Given the description of an element on the screen output the (x, y) to click on. 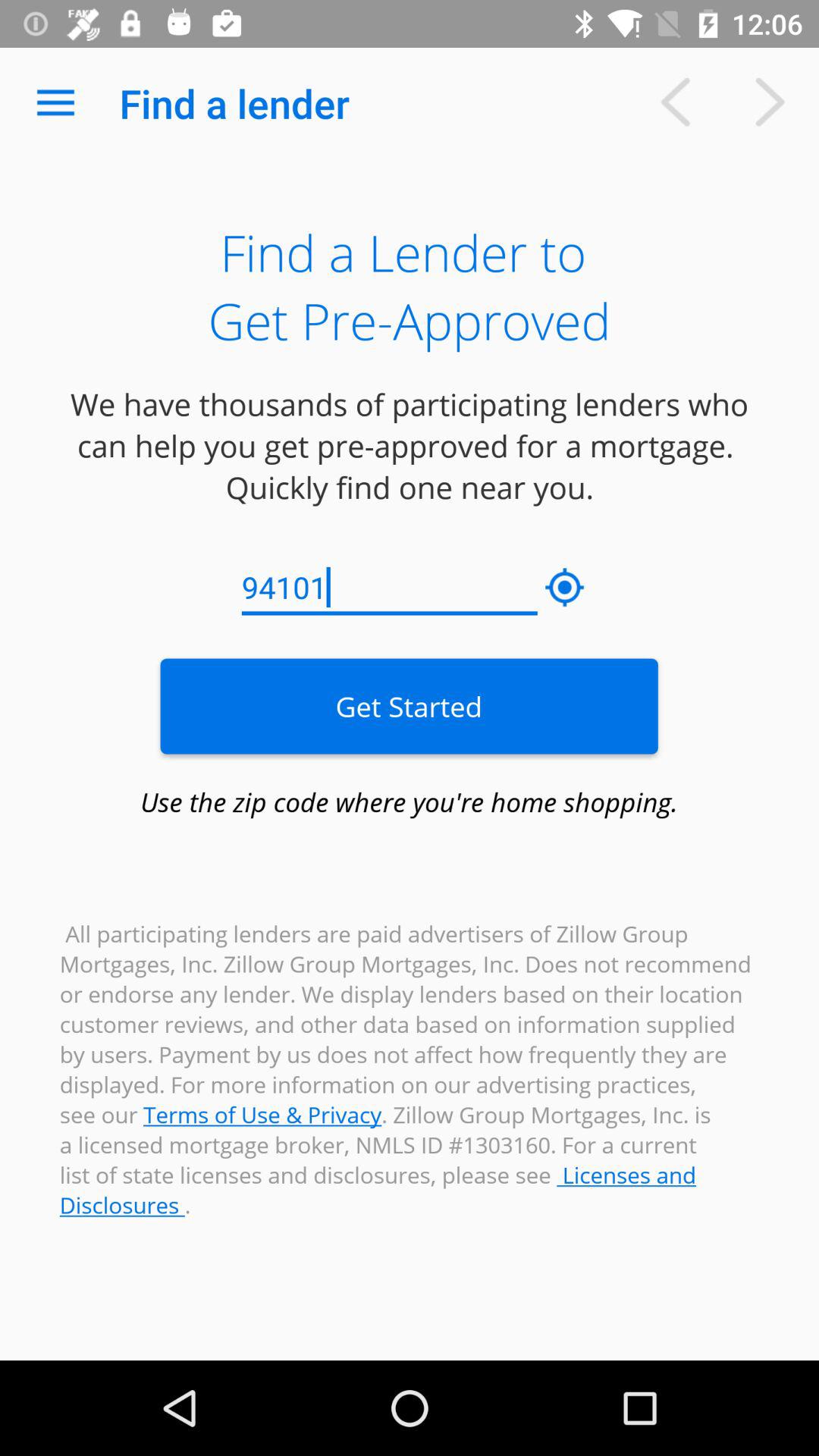
turn on the 94101 item (389, 588)
